Given the description of an element on the screen output the (x, y) to click on. 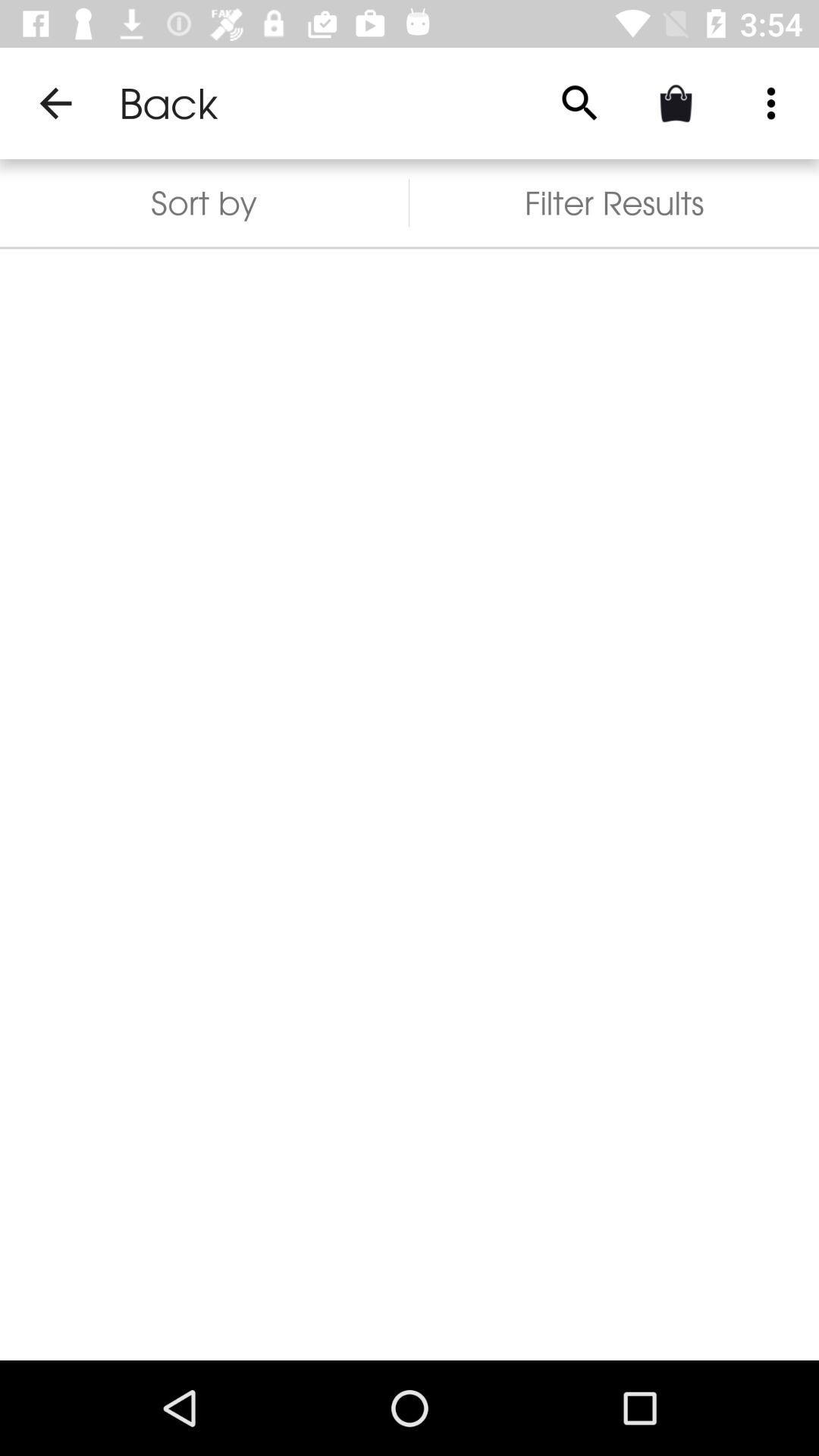
tap the item at the center (409, 804)
